Given the description of an element on the screen output the (x, y) to click on. 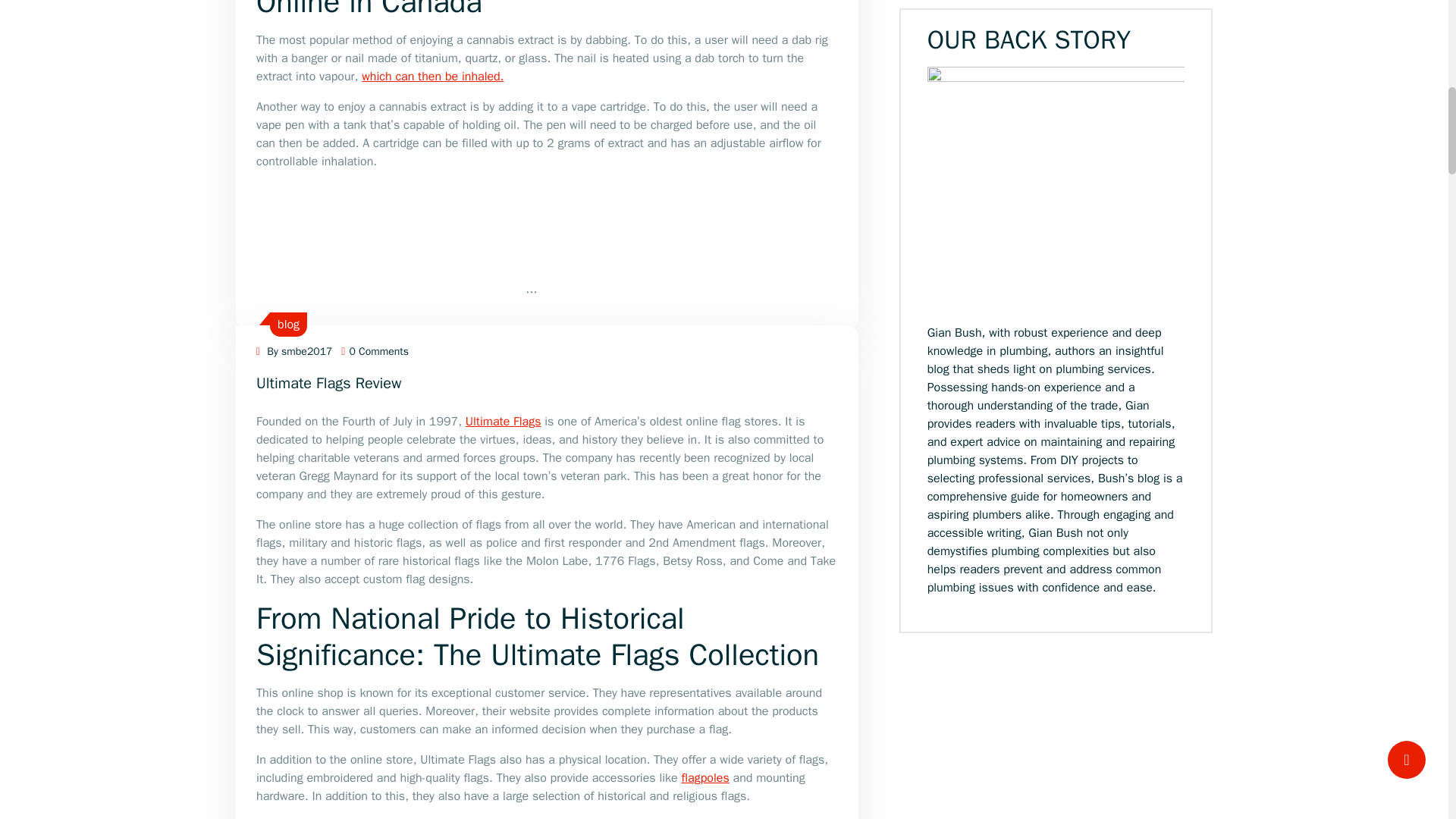
Ultimate Flags (503, 421)
Ultimate Flags Review (328, 383)
flagpoles (705, 777)
which can then be inhaled. (432, 76)
blog (288, 324)
0 Comments (374, 350)
By smbe2017 (293, 350)
